Given the description of an element on the screen output the (x, y) to click on. 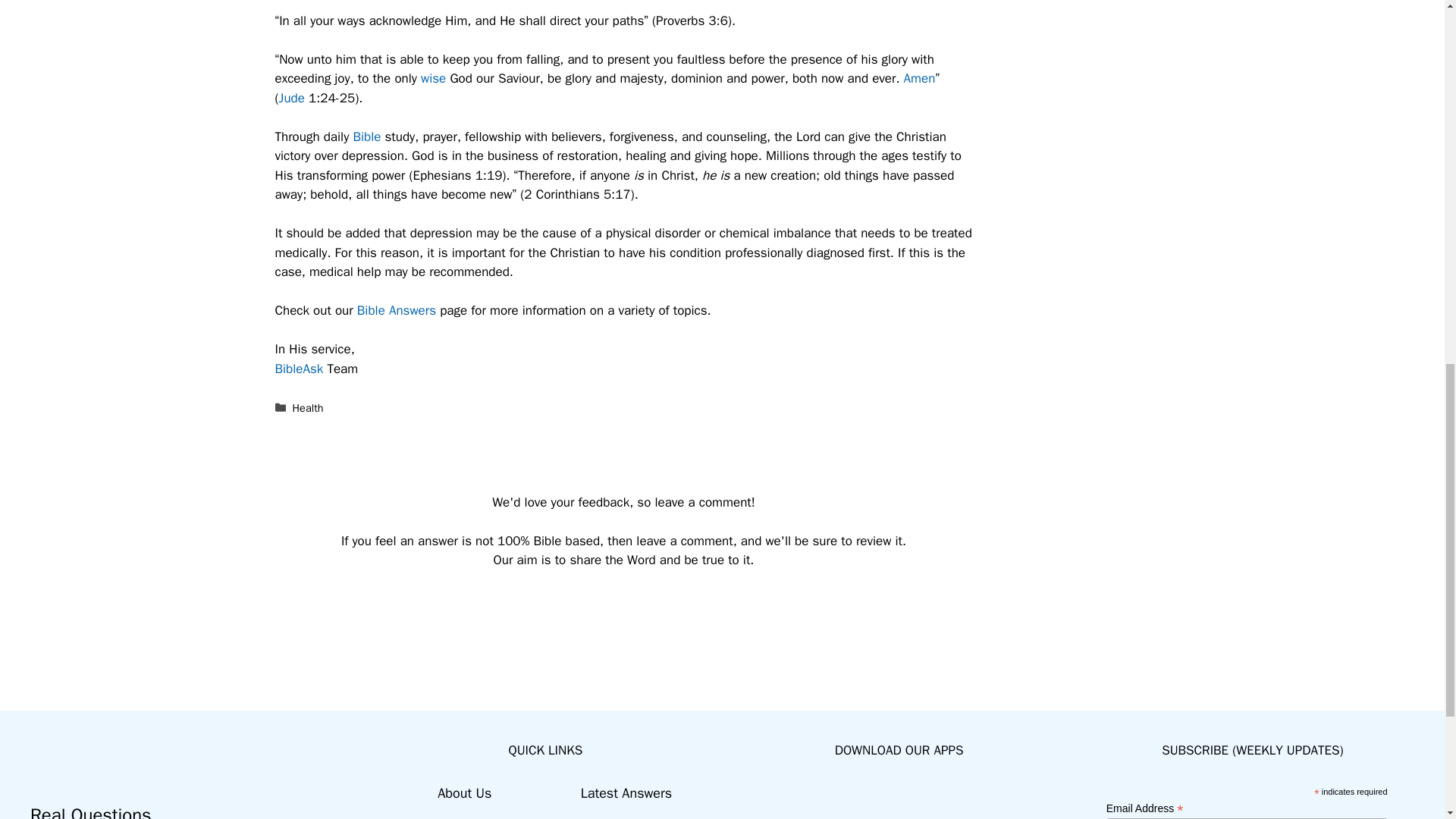
BibleAsk (299, 368)
Amen (920, 78)
Jude (291, 98)
Bible (366, 136)
wise (432, 78)
Bible Answers (395, 310)
